Given the description of an element on the screen output the (x, y) to click on. 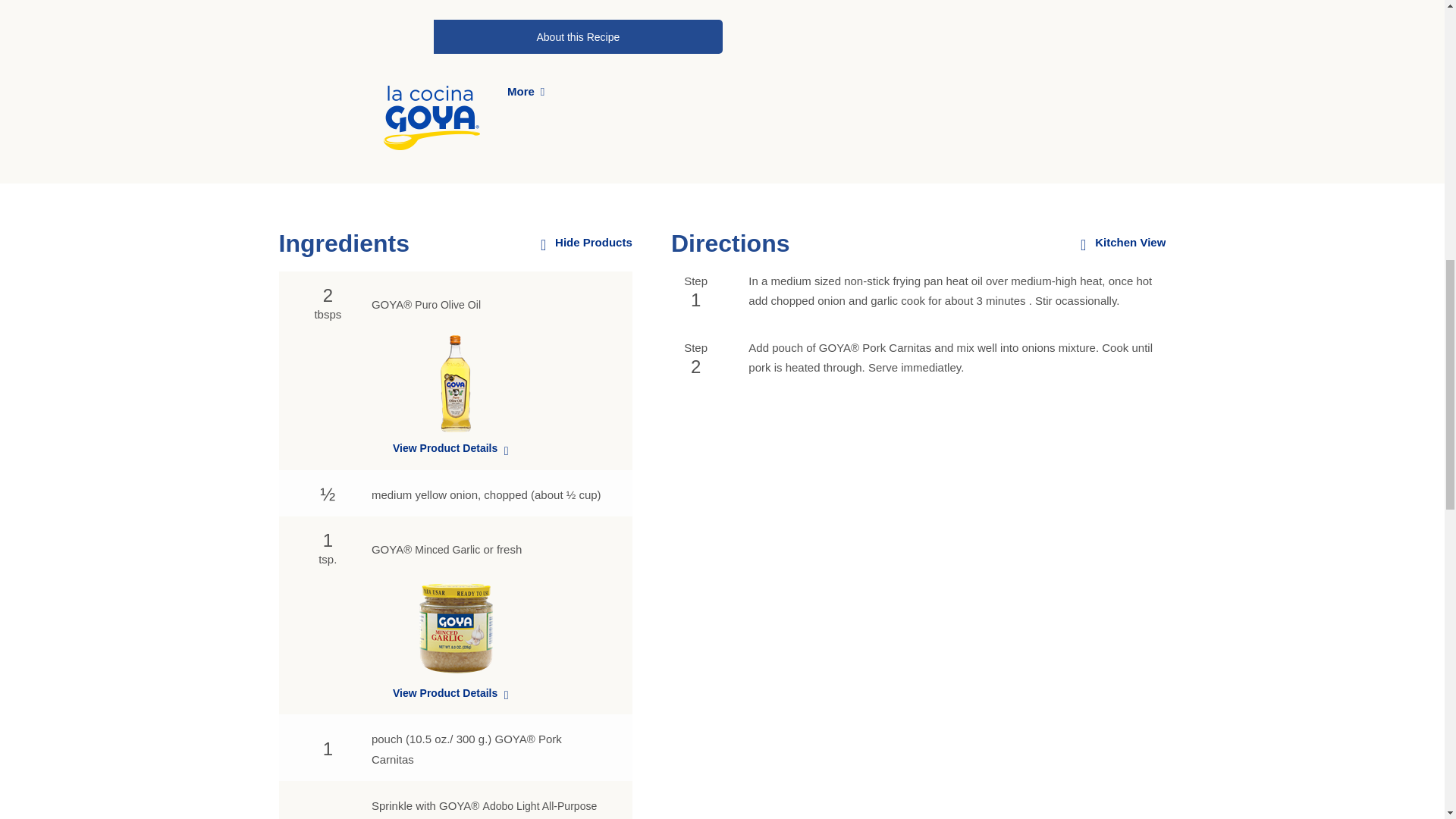
Puro Olive Oil (447, 304)
Adobo Light All-Purpose Seasoning (483, 809)
Minced Garlic (447, 549)
